Given the description of an element on the screen output the (x, y) to click on. 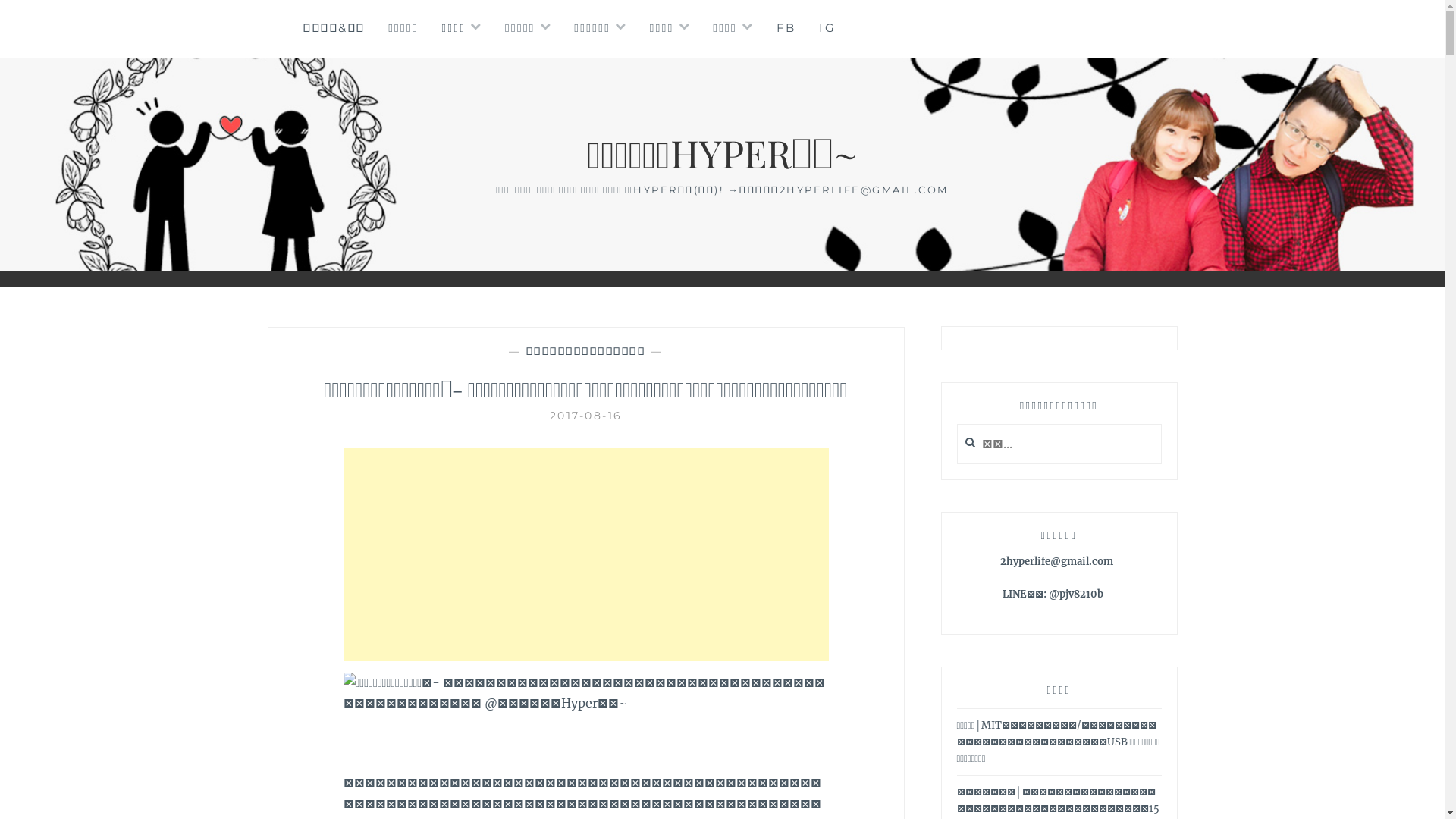
Advertisement Element type: hover (585, 554)
FB Element type: text (786, 28)
IG Element type: text (827, 28)
